Given the description of an element on the screen output the (x, y) to click on. 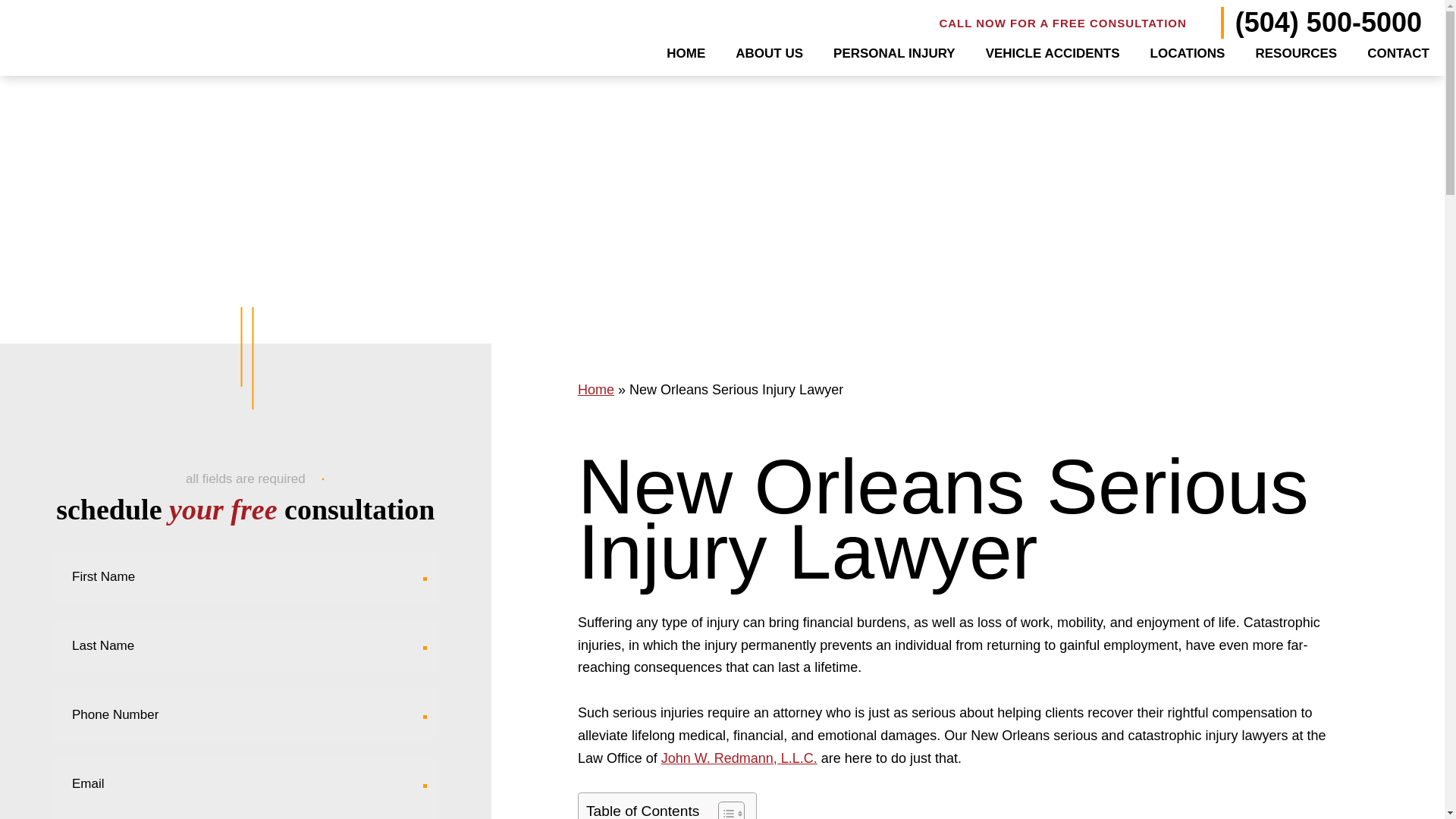
RESOURCES (1295, 53)
CONTACT (1398, 53)
LOCATIONS (1187, 53)
PERSONAL INJURY (893, 53)
John W. Redmann, L.L.C. (738, 758)
HOME (685, 53)
Law Office of John W. Redmann, LLC (84, 37)
Home (596, 389)
ABOUT US (769, 53)
VEHICLE ACCIDENTS (1052, 53)
